Given the description of an element on the screen output the (x, y) to click on. 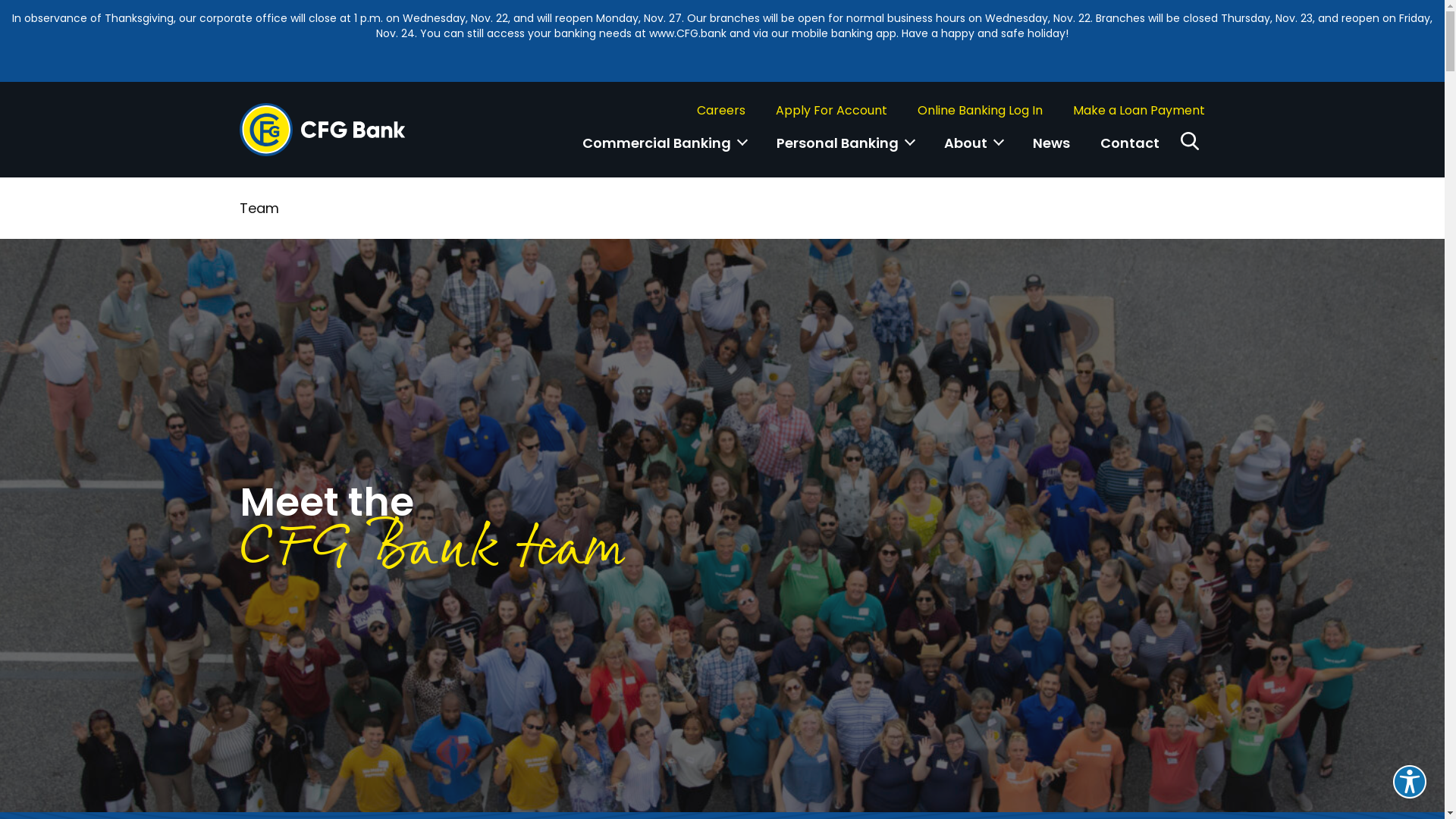
Online Banking Log In Element type: text (979, 110)
Skip to Content Element type: text (0, 0)
CFG Bank Element type: text (322, 127)
Careers Element type: text (720, 110)
Personal Banking Element type: text (844, 150)
Apply For Account Element type: text (831, 110)
About Element type: text (973, 150)
Commercial Banking Element type: text (664, 150)
News Element type: text (1051, 150)
Make a Loan Payment Element type: text (1138, 110)
Contact Element type: text (1129, 150)
Search Element type: text (1189, 140)
